Given the description of an element on the screen output the (x, y) to click on. 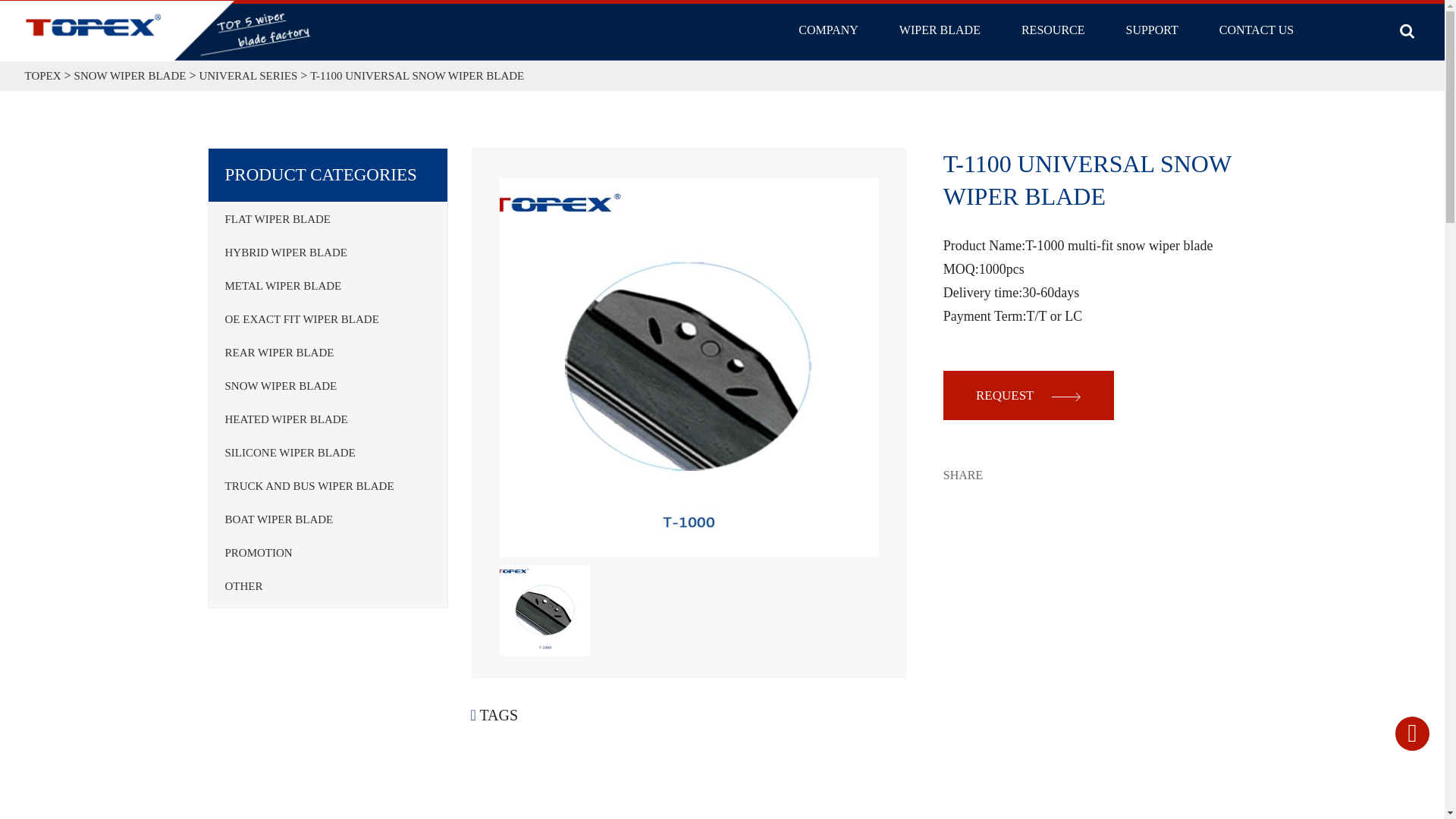
COMPANY (828, 29)
Go to the Univeral Series Category archives. (247, 75)
Go to TOPEX. (42, 75)
search (1406, 31)
Go to the Snow Wiper Blade Category archives. (130, 75)
right (1065, 397)
